Given the description of an element on the screen output the (x, y) to click on. 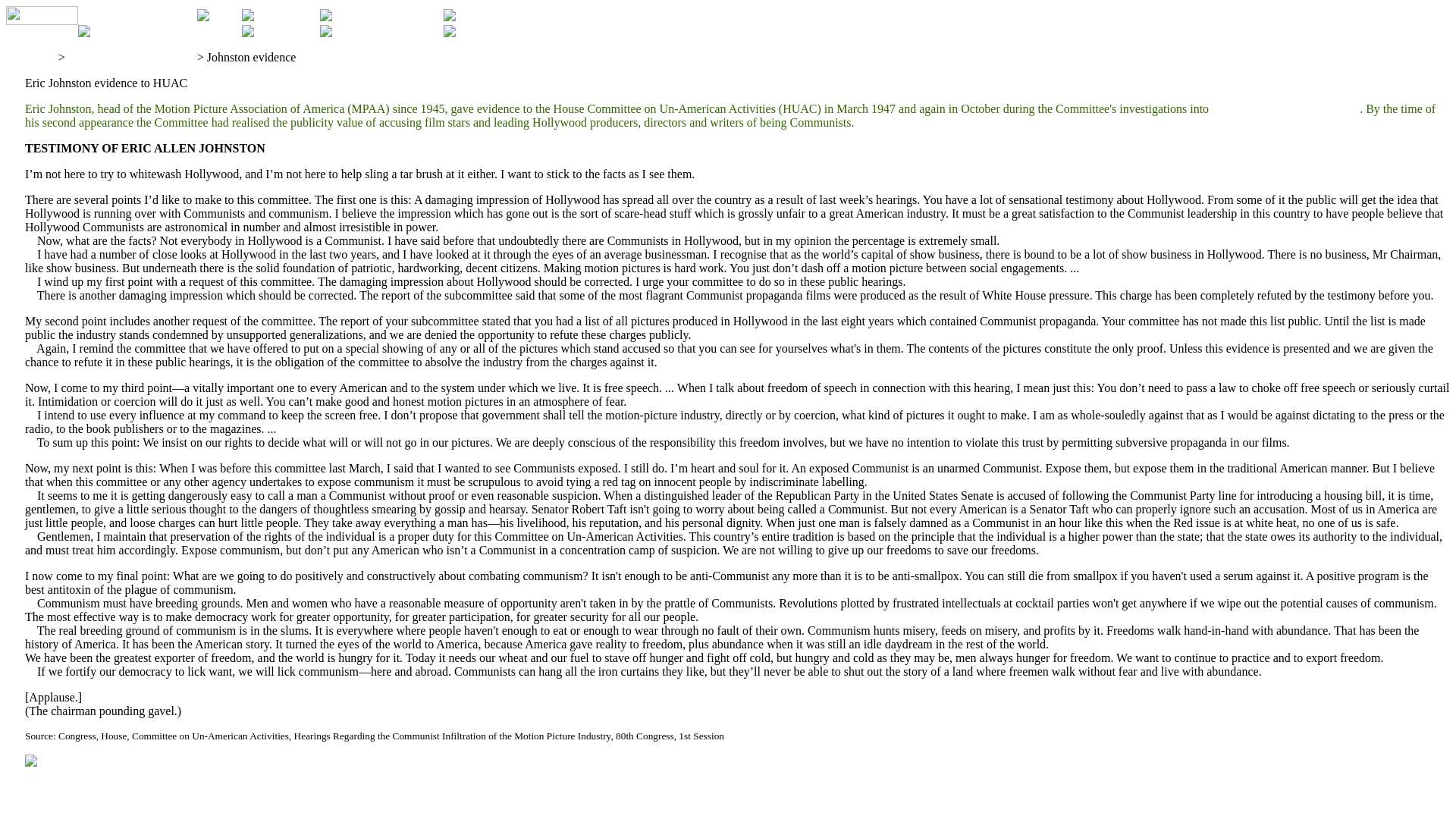
Reference (30, 56)
Contemporary documents index (109, 762)
the 'red menace' in Hollywood (1285, 108)
Contemporary documents (130, 56)
